Given the description of an element on the screen output the (x, y) to click on. 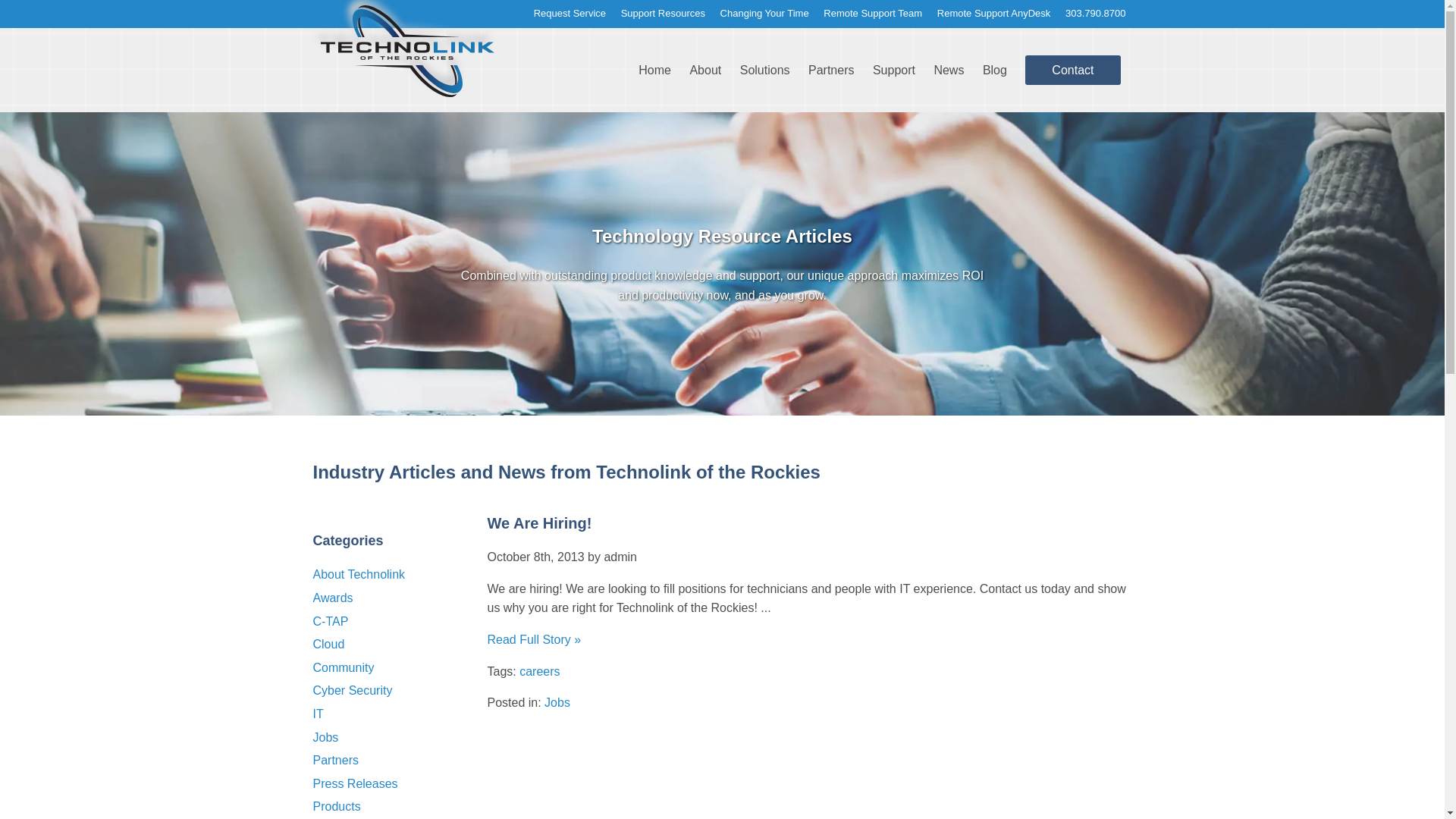
About Technolink (358, 574)
C-TAP (330, 621)
Remote Support AnyDesk (994, 14)
Press Releases (355, 783)
Partners (831, 70)
Home (654, 70)
303.790.8700 (1095, 14)
Support (893, 70)
Request Service (569, 14)
careers (539, 671)
Cyber Security (352, 689)
Solutions (764, 70)
IT (318, 713)
Products (336, 806)
Community (343, 667)
